Given the description of an element on the screen output the (x, y) to click on. 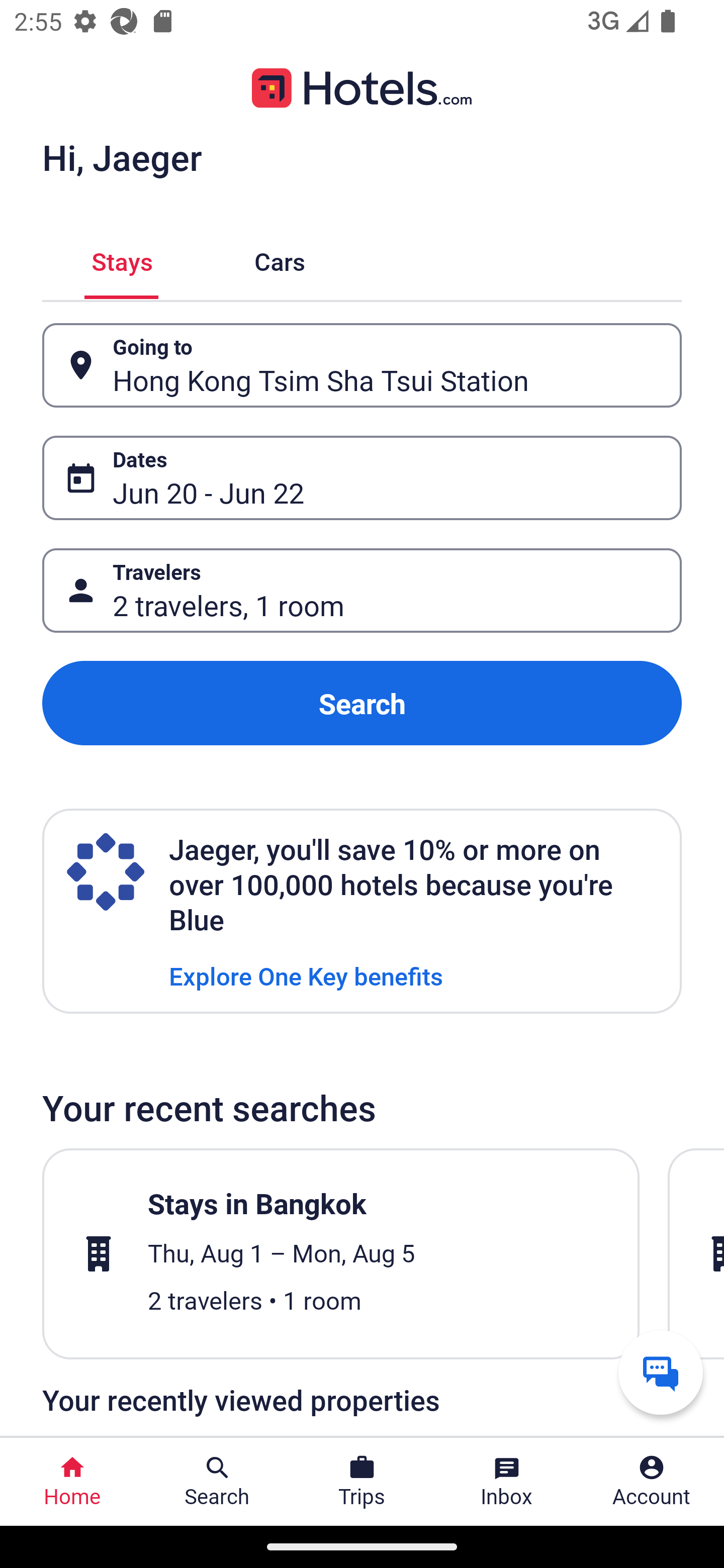
Hi, Jaeger (121, 156)
Cars (279, 259)
Going to Button Hong Kong Tsim Sha Tsui Station (361, 365)
Dates Button Jun 20 - Jun 22 (361, 477)
Travelers Button 2 travelers, 1 room (361, 590)
Search (361, 702)
Get help from a virtual agent (660, 1371)
Search Search Button (216, 1481)
Trips Trips Button (361, 1481)
Inbox Inbox Button (506, 1481)
Account Profile. Button (651, 1481)
